Given the description of an element on the screen output the (x, y) to click on. 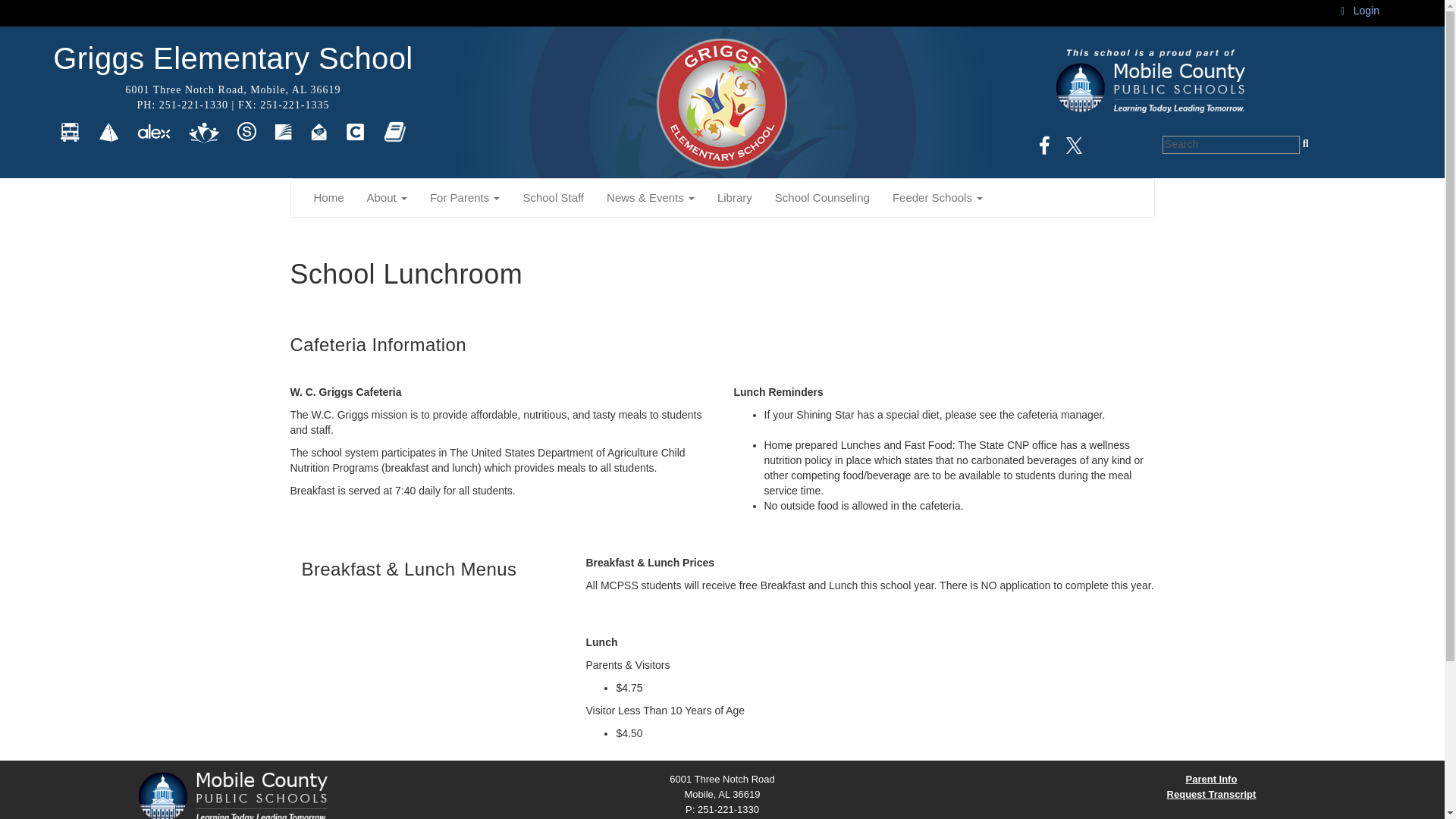
Student Email (318, 131)
About (387, 198)
Home Connect (108, 131)
Feeder Schools (937, 198)
Student Grades (246, 131)
Clever (354, 131)
Library (734, 198)
e-Funds for Schools (203, 131)
Home (328, 198)
ALEX (153, 131)
